Given the description of an element on the screen output the (x, y) to click on. 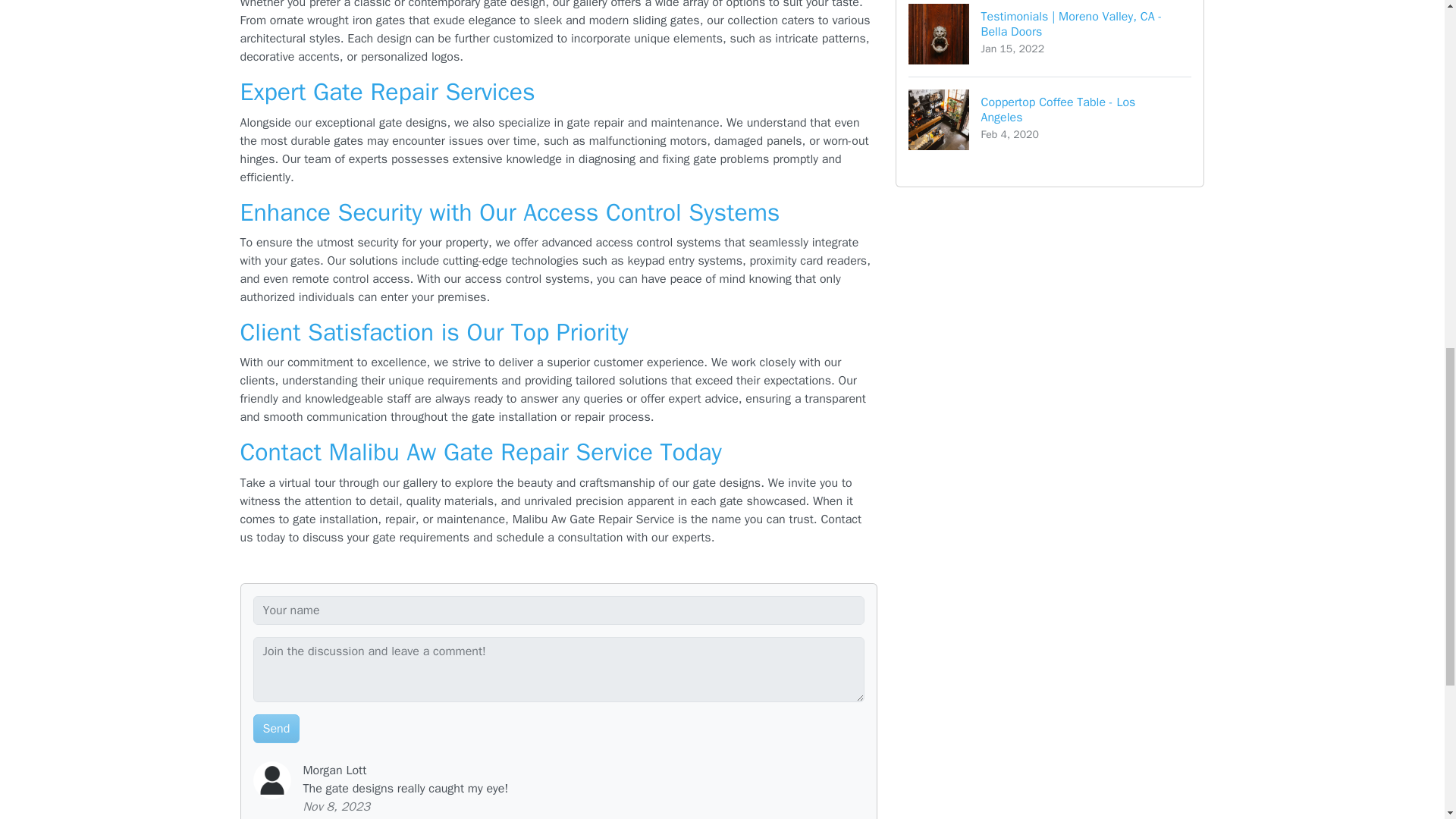
Send (276, 728)
Send (1050, 119)
